Given the description of an element on the screen output the (x, y) to click on. 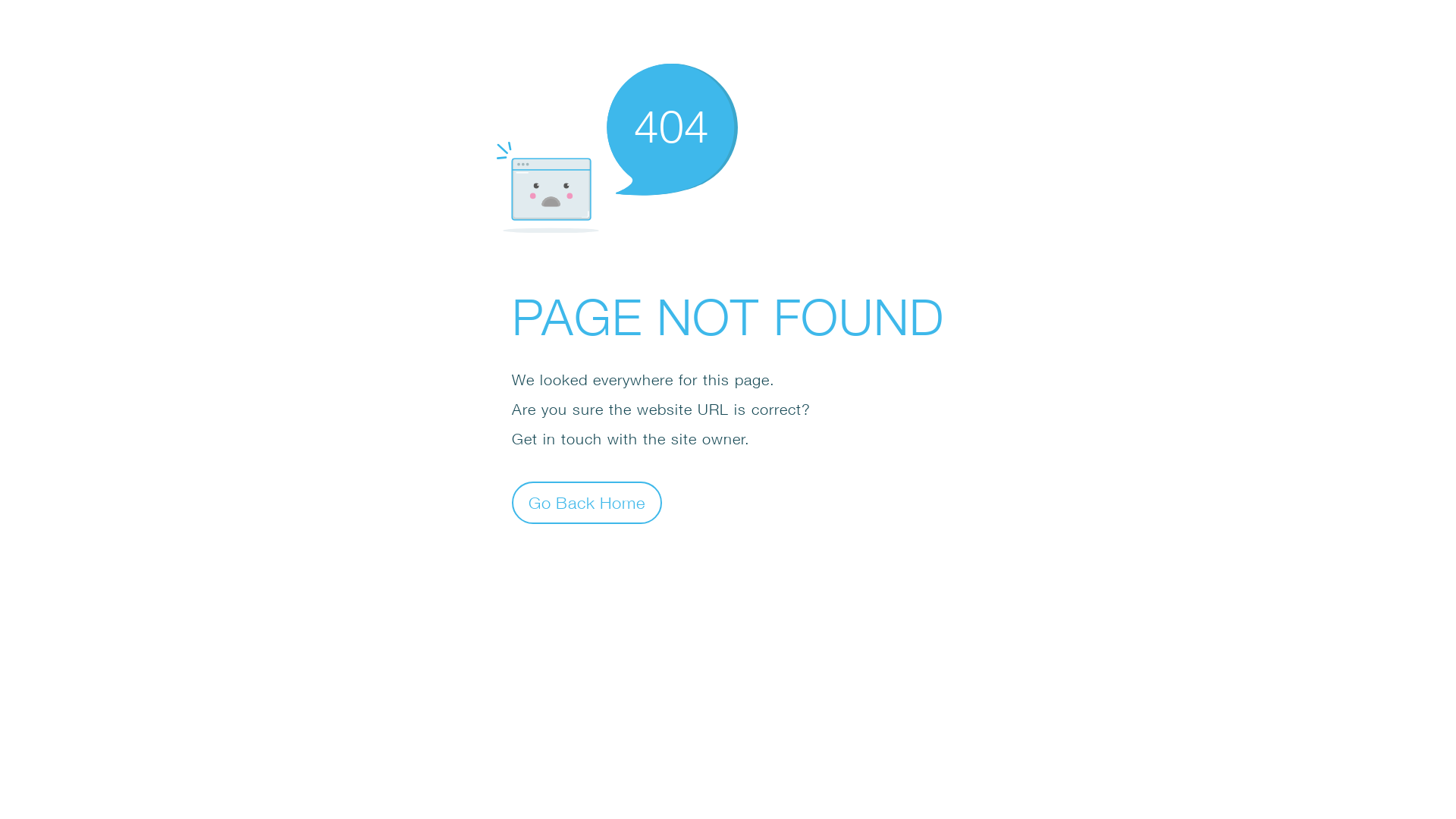
Go Back Home Element type: text (586, 502)
